Given the description of an element on the screen output the (x, y) to click on. 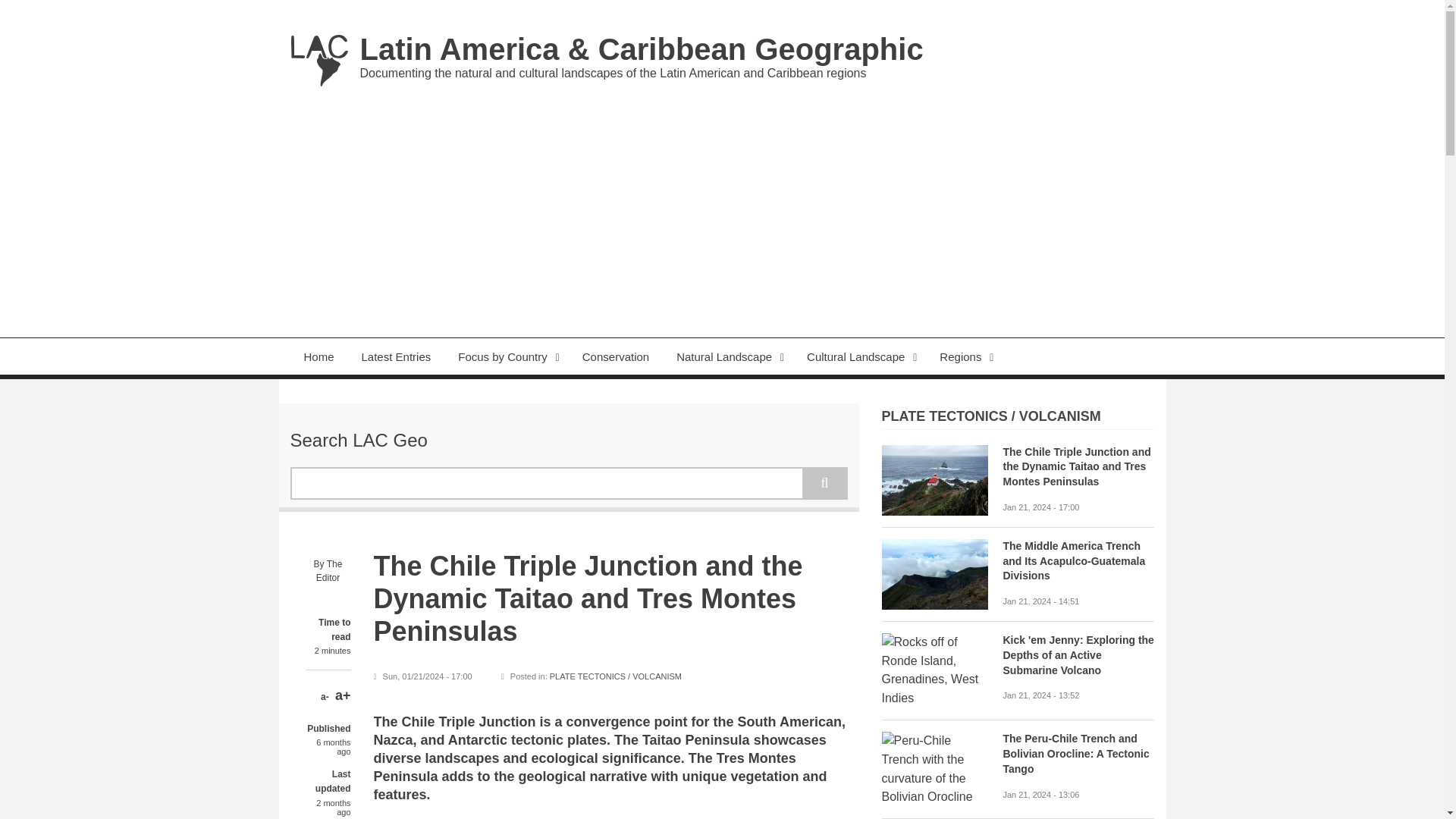
The Editor (328, 570)
Latest Entries (396, 356)
Home (641, 49)
Natural Landscape (727, 356)
Home (318, 59)
Home (318, 356)
Natural Landscape (727, 356)
Regions (964, 356)
Search (824, 482)
Latest Entries (396, 356)
Cultural Landscape (859, 356)
Focus by Country (506, 356)
Cultural Landscape (859, 356)
Focus by Country or Territory (506, 356)
